Given the description of an element on the screen output the (x, y) to click on. 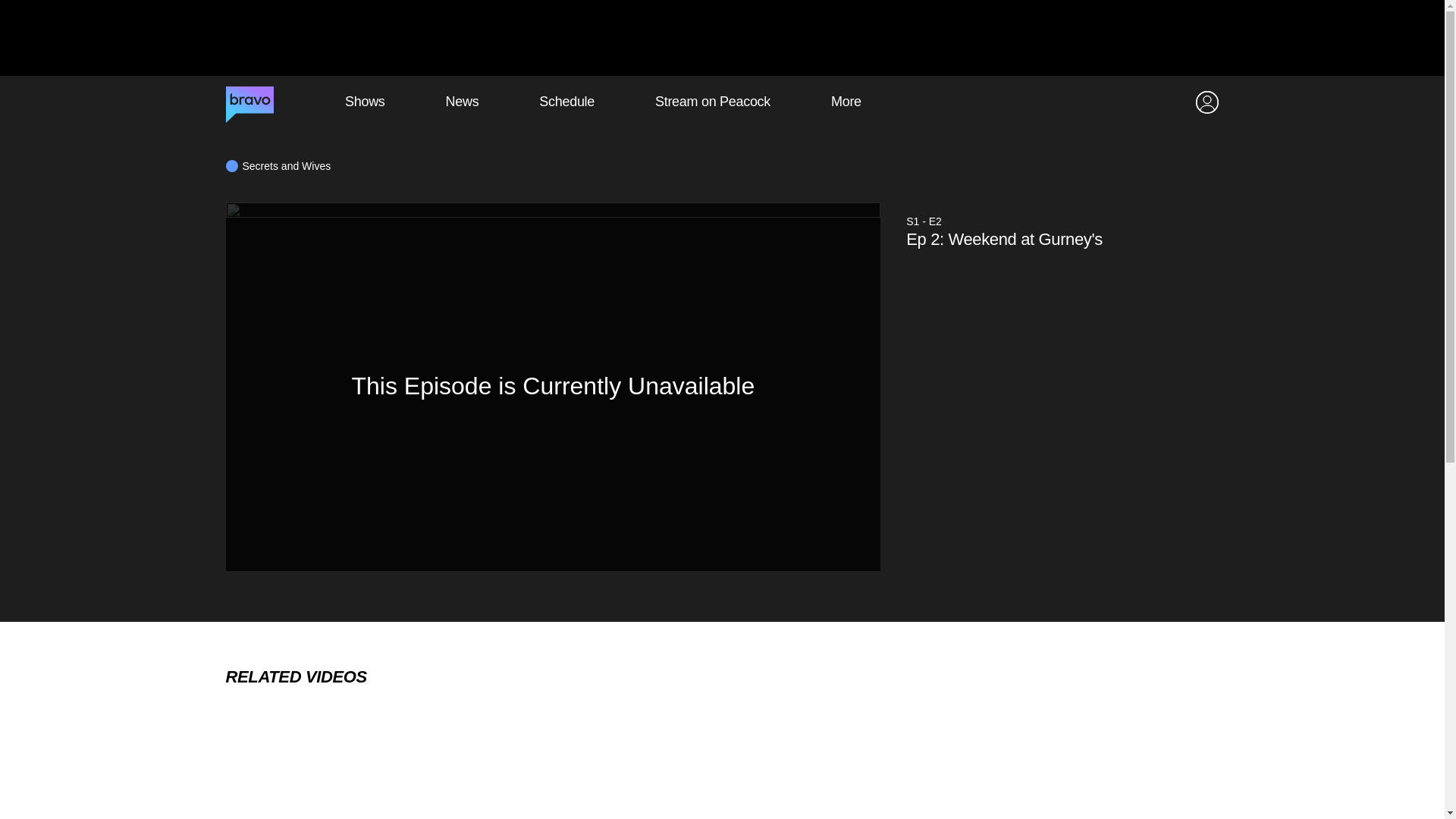
More (846, 101)
News (462, 101)
Schedule (566, 101)
Stream on Peacock (712, 101)
Shows (363, 101)
Home (249, 102)
Secrets and Wives (278, 165)
